Given the description of an element on the screen output the (x, y) to click on. 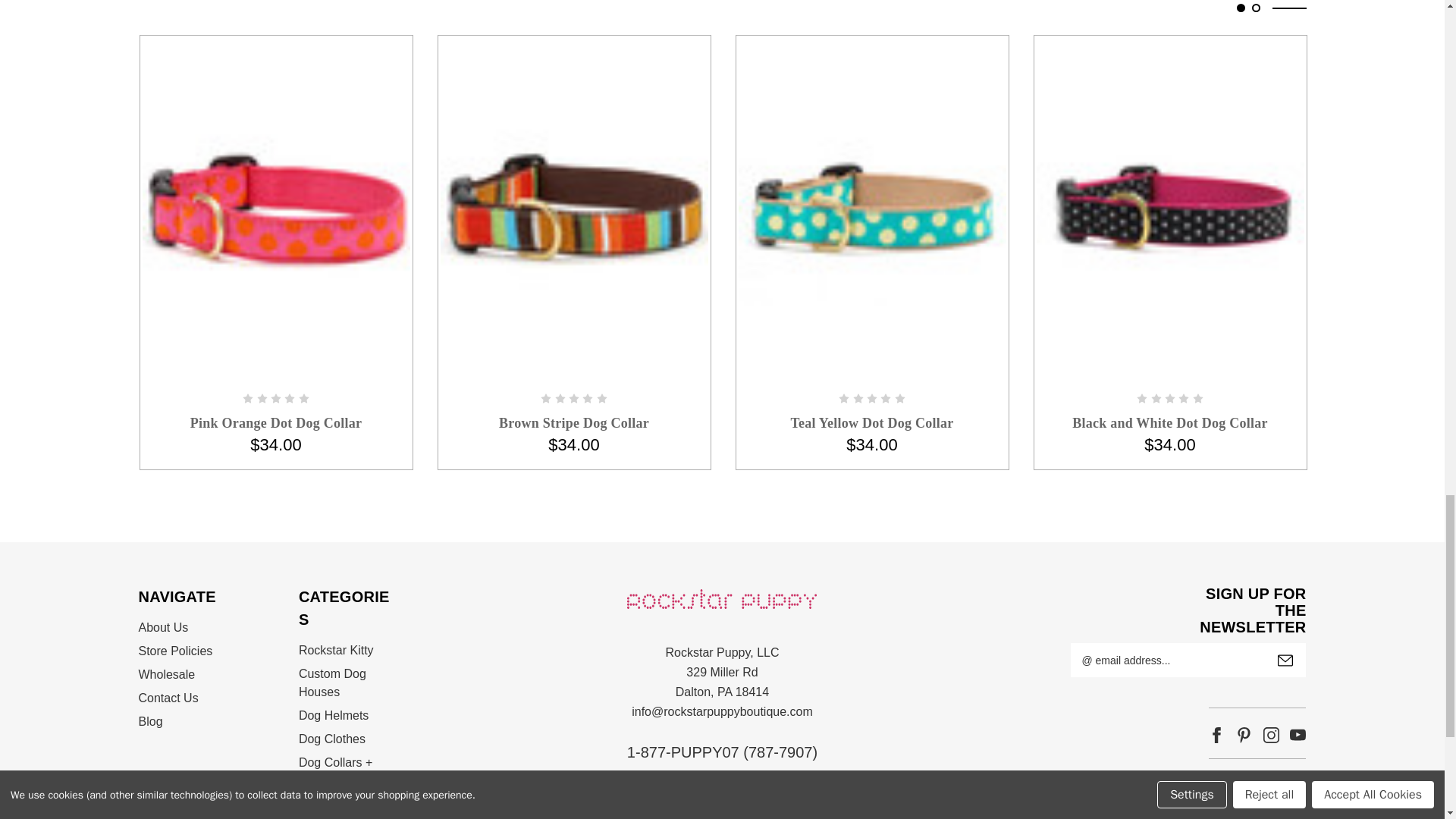
Black and White Dot Dog Collar (1169, 209)
Teal Yellow Dot Dog Collar (872, 209)
Pink Orange Dot Dog Collar (276, 209)
Brown Stripe Dog Collar (573, 209)
